Given the description of an element on the screen output the (x, y) to click on. 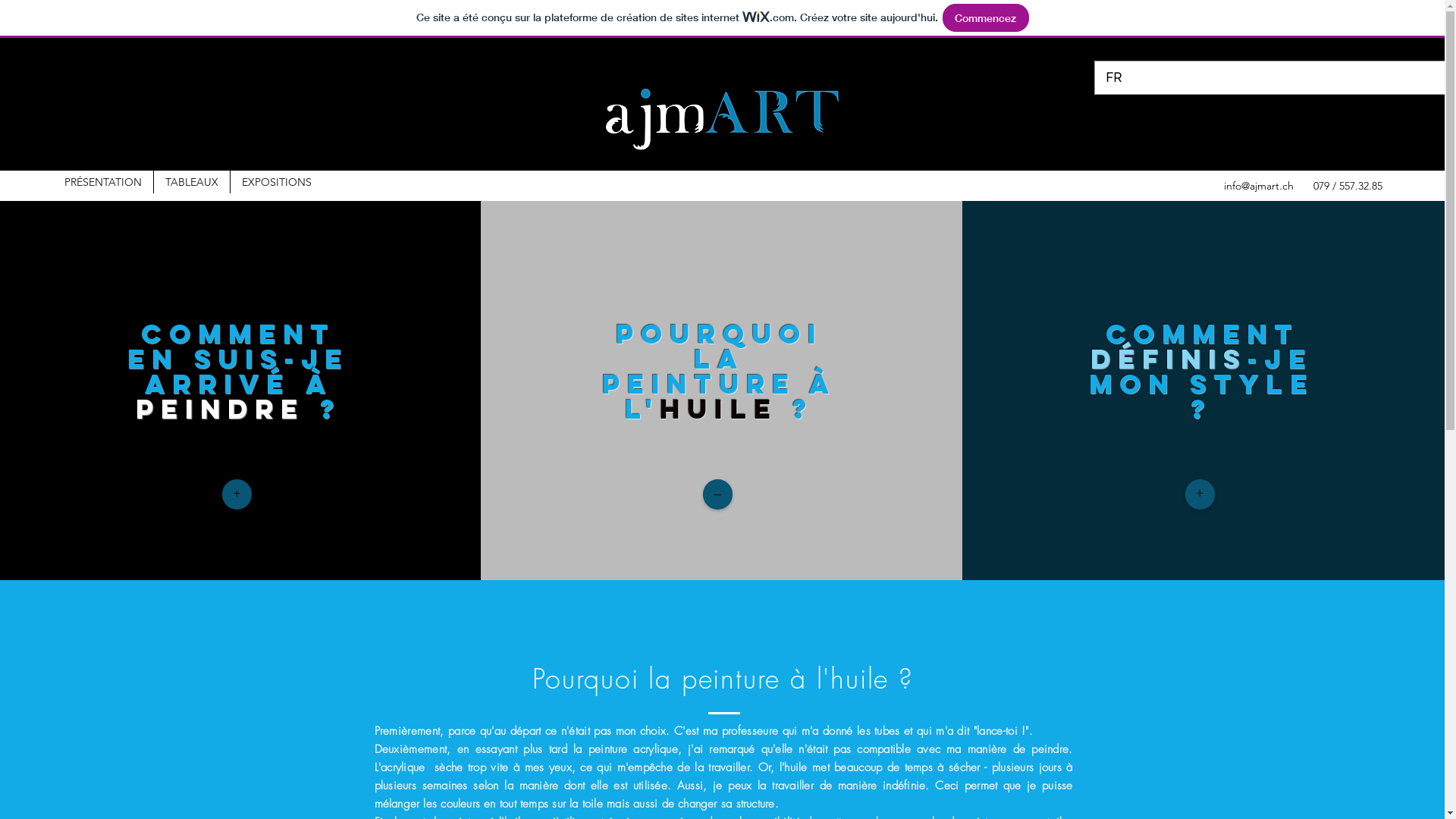
+ Element type: text (1199, 494)
+ Element type: text (236, 494)
TABLEAUX Element type: text (191, 181)
info@ajmart.ch Element type: text (1258, 185)
EXPOSITIONS Element type: text (276, 181)
